Given the description of an element on the screen output the (x, y) to click on. 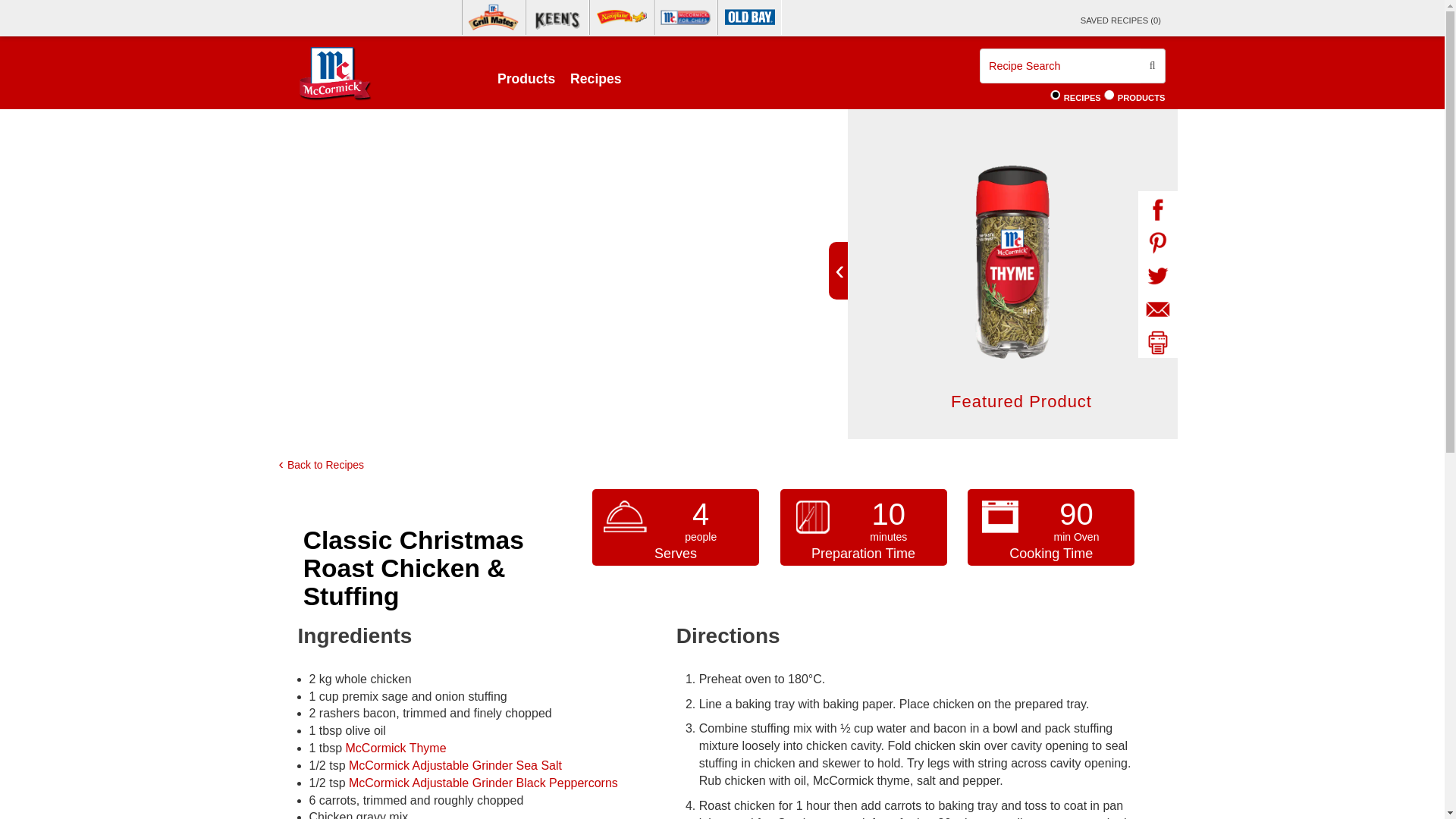
logo (333, 72)
Back to Recipes (322, 464)
McCormick Thyme (396, 748)
facebook (1156, 208)
prep-time (812, 516)
Recipes (1054, 94)
twitter (1156, 275)
Products (1108, 94)
Products (526, 71)
email (1156, 309)
